Given the description of an element on the screen output the (x, y) to click on. 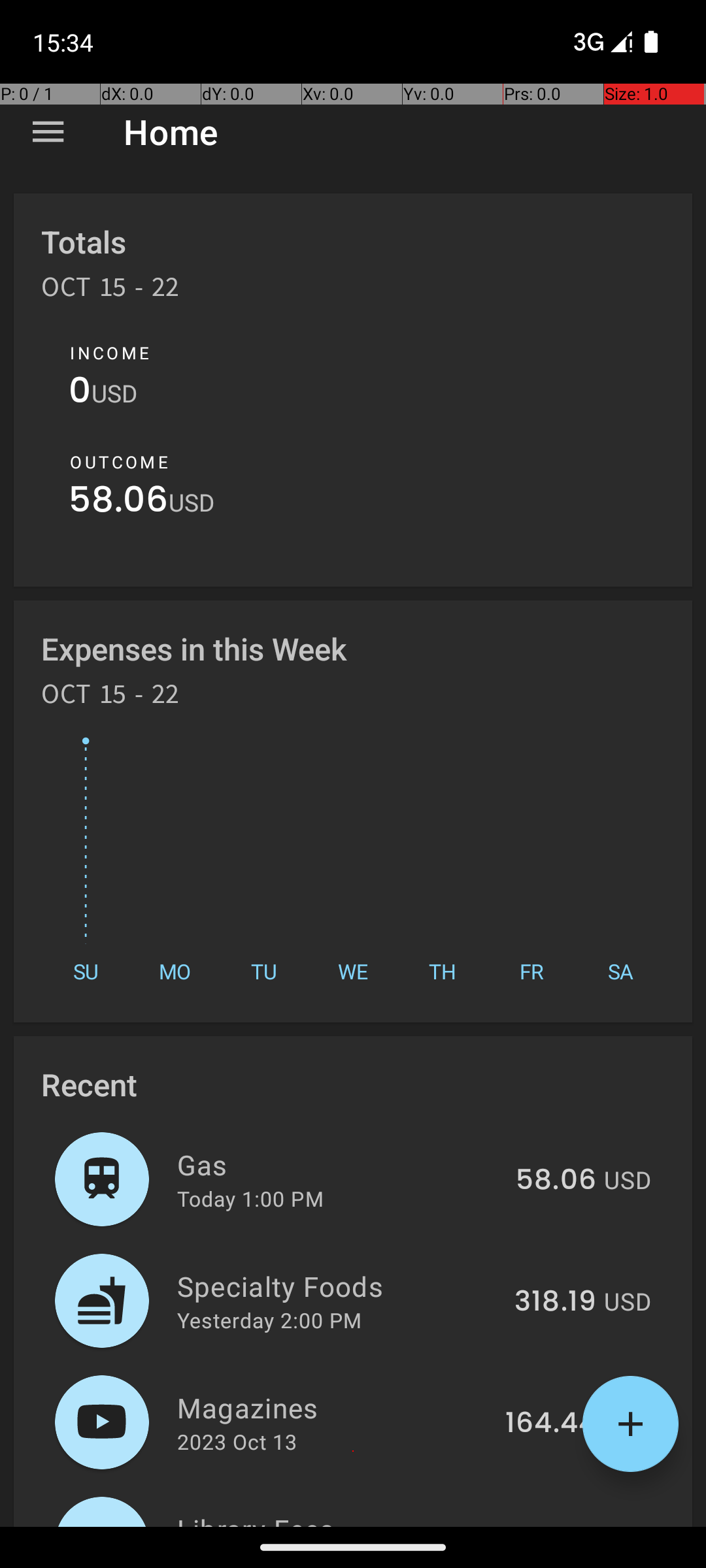
58.06 Element type: android.widget.TextView (118, 502)
Gas Element type: android.widget.TextView (338, 1164)
Today 1:00 PM Element type: android.widget.TextView (250, 1198)
Specialty Foods Element type: android.widget.TextView (338, 1285)
Yesterday 2:00 PM Element type: android.widget.TextView (269, 1320)
318.19 Element type: android.widget.TextView (554, 1301)
Magazines Element type: android.widget.TextView (333, 1407)
164.44 Element type: android.widget.TextView (550, 1423)
Library Fees Element type: android.widget.TextView (333, 1518)
144.06 Element type: android.widget.TextView (550, 1524)
